Given the description of an element on the screen output the (x, y) to click on. 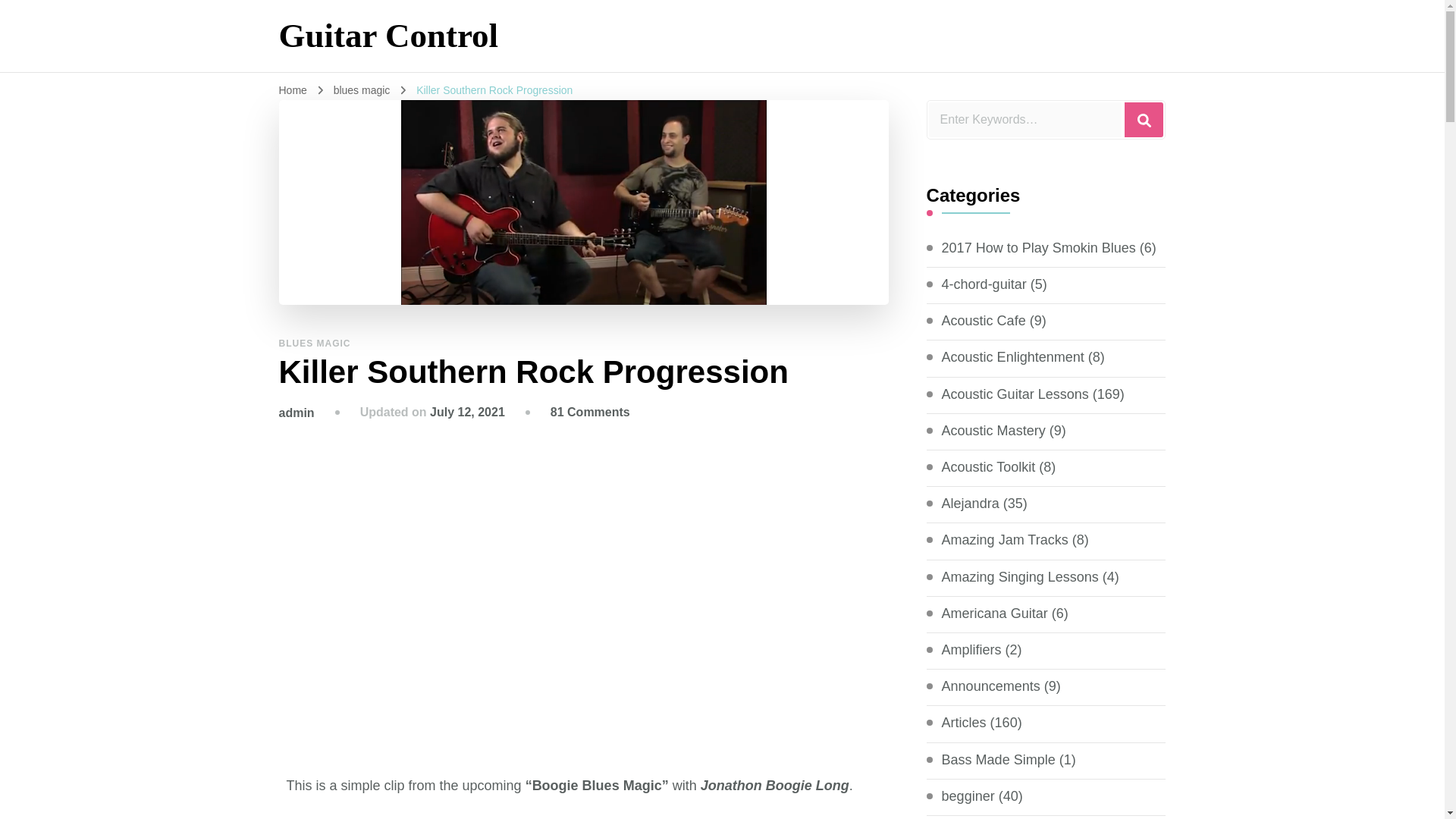
July 12, 2021 (467, 411)
Killer Southern Rock Progression (494, 90)
Search (1143, 119)
admin (296, 412)
Home (293, 90)
blues magic (363, 90)
Search (1143, 119)
BLUES MAGIC (314, 343)
81 Comments (590, 411)
Guitar Control (389, 35)
